Given the description of an element on the screen output the (x, y) to click on. 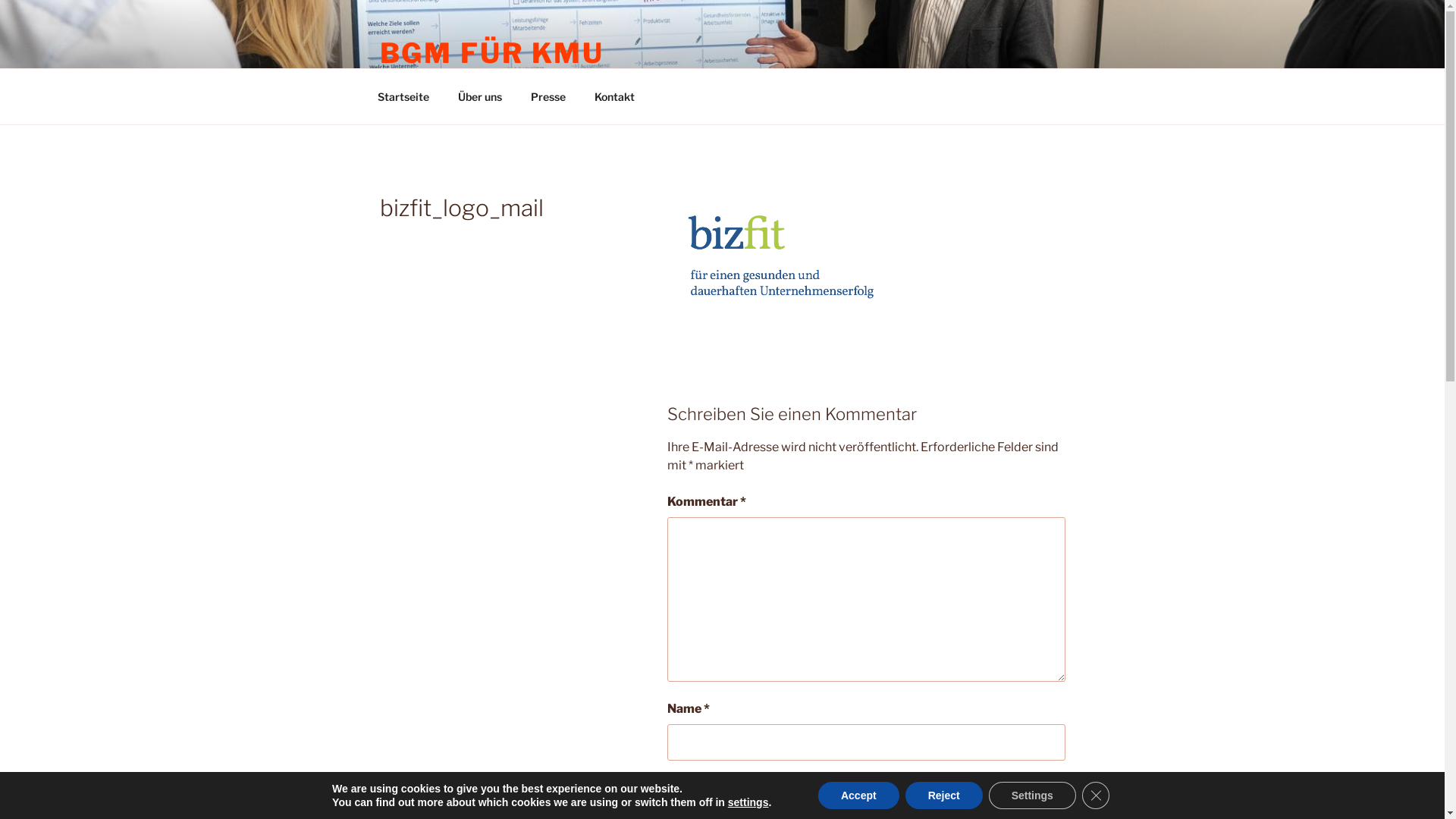
Kontakt Element type: text (613, 96)
Reject Element type: text (943, 795)
settings Element type: text (748, 802)
Close GDPR Cookie Banner Element type: text (1095, 795)
Startseite Element type: text (403, 96)
Presse Element type: text (547, 96)
Settings Element type: text (1032, 795)
Accept Element type: text (858, 795)
